Given the description of an element on the screen output the (x, y) to click on. 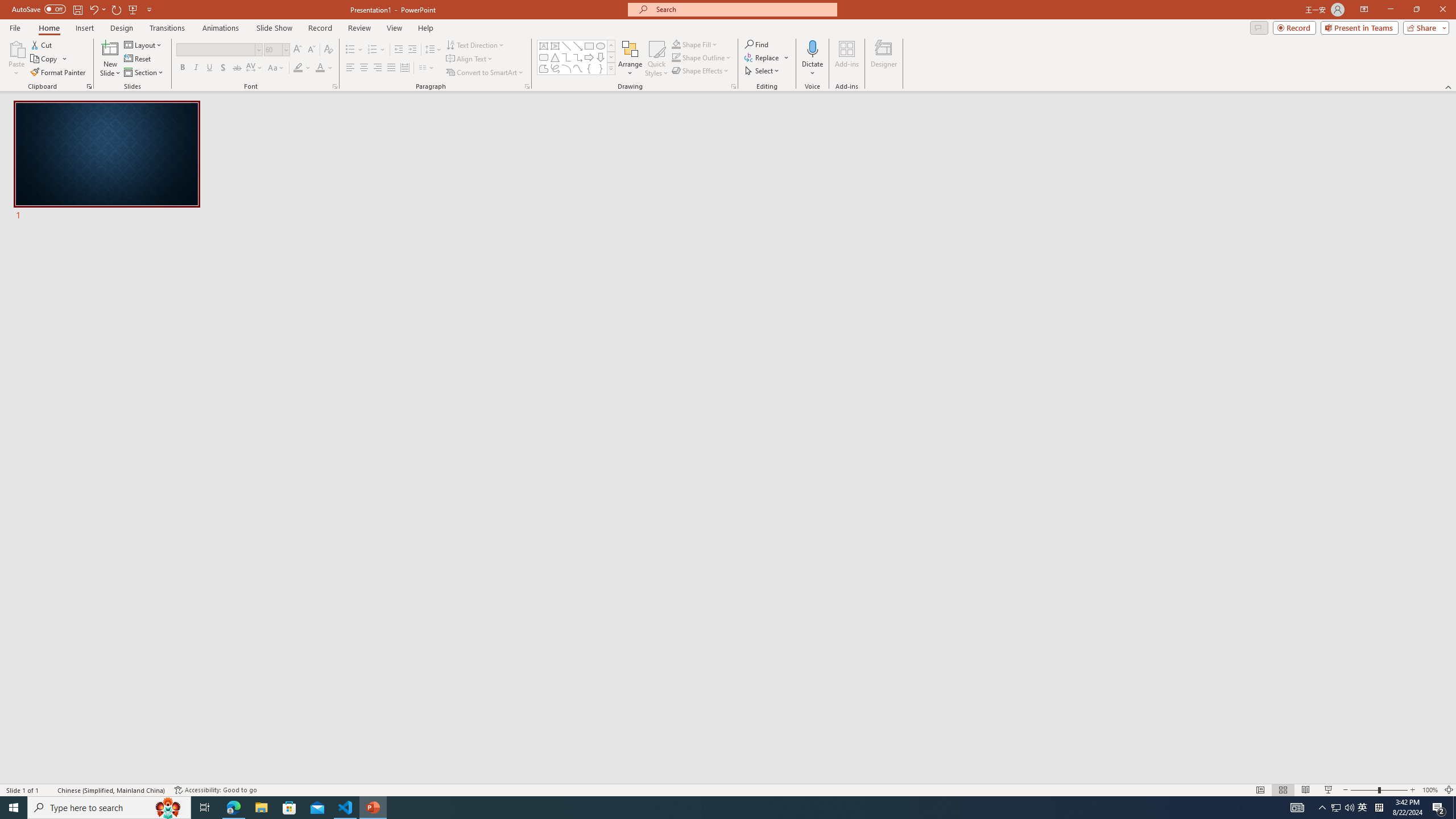
Zoom 100% (1430, 790)
